Given the description of an element on the screen output the (x, y) to click on. 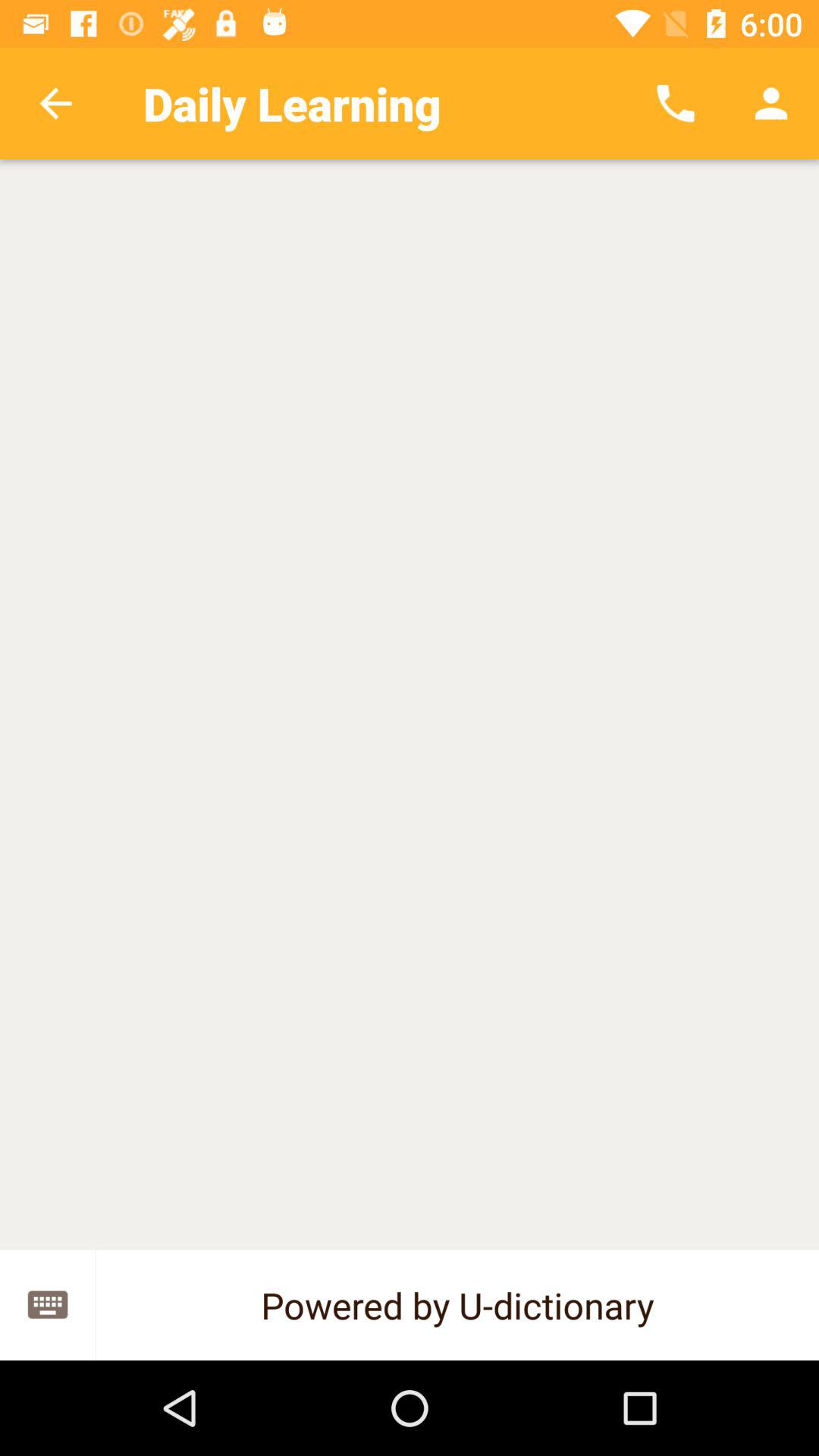
launch app to the right of daily learning icon (675, 103)
